Given the description of an element on the screen output the (x, y) to click on. 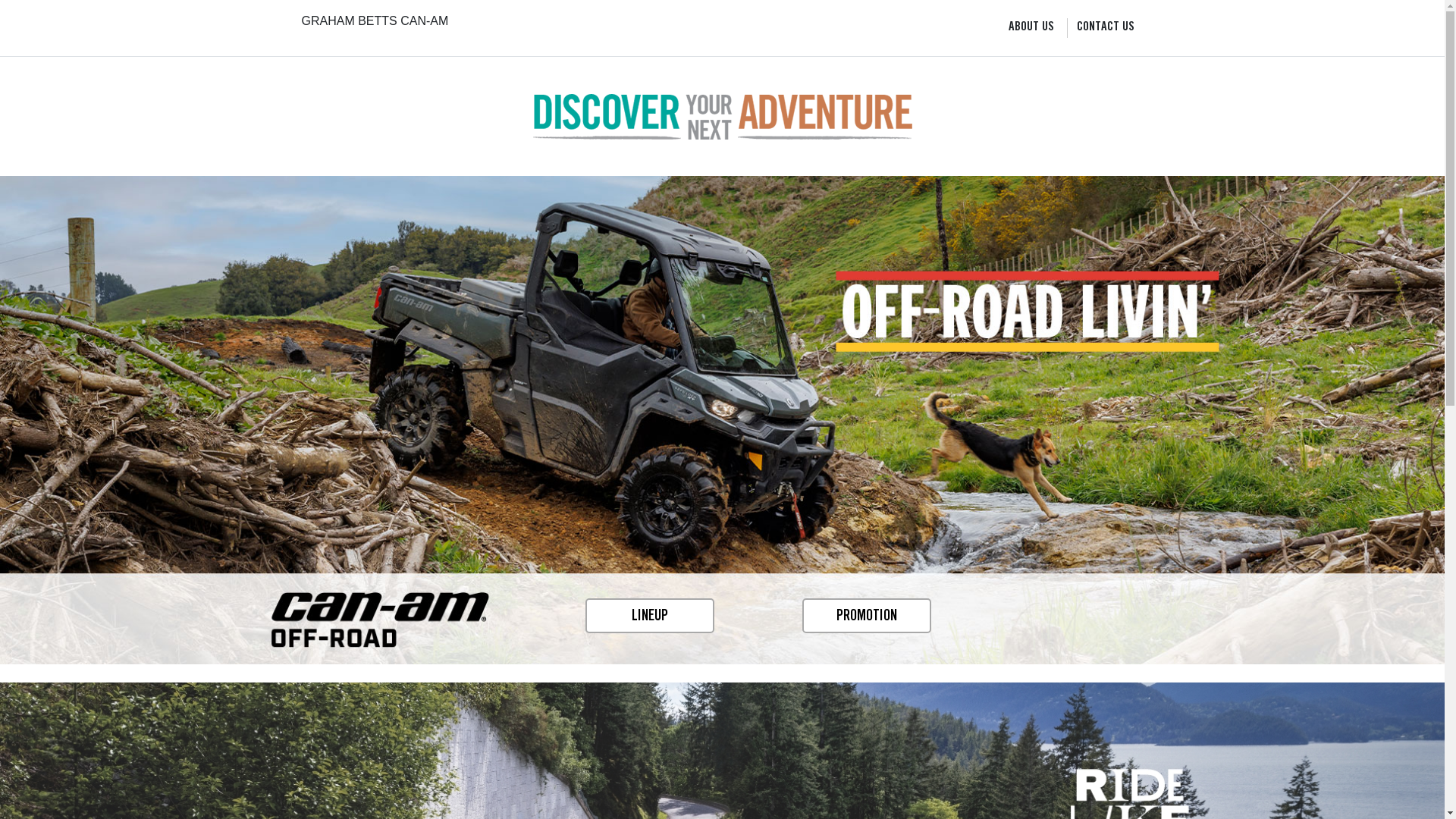
ABOUT US Element type: text (1031, 27)
CONTACT US Element type: text (1105, 27)
